Given the description of an element on the screen output the (x, y) to click on. 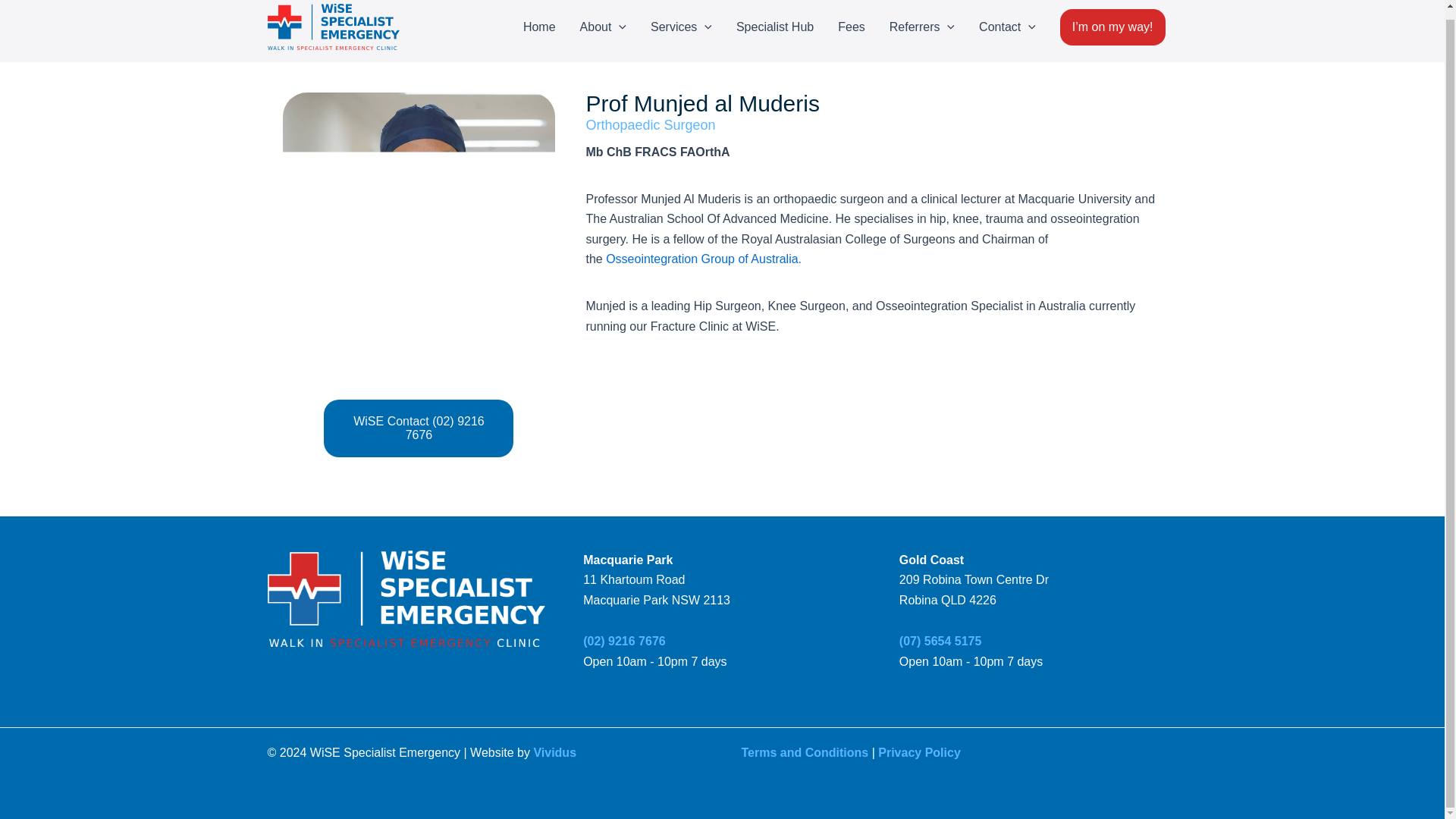
Prof Munjed al Muderis (418, 228)
Home (539, 28)
Specialist Hub (774, 28)
Referrers (921, 28)
About (603, 28)
Contact (1007, 28)
Fees (851, 28)
Services (681, 28)
